Given the description of an element on the screen output the (x, y) to click on. 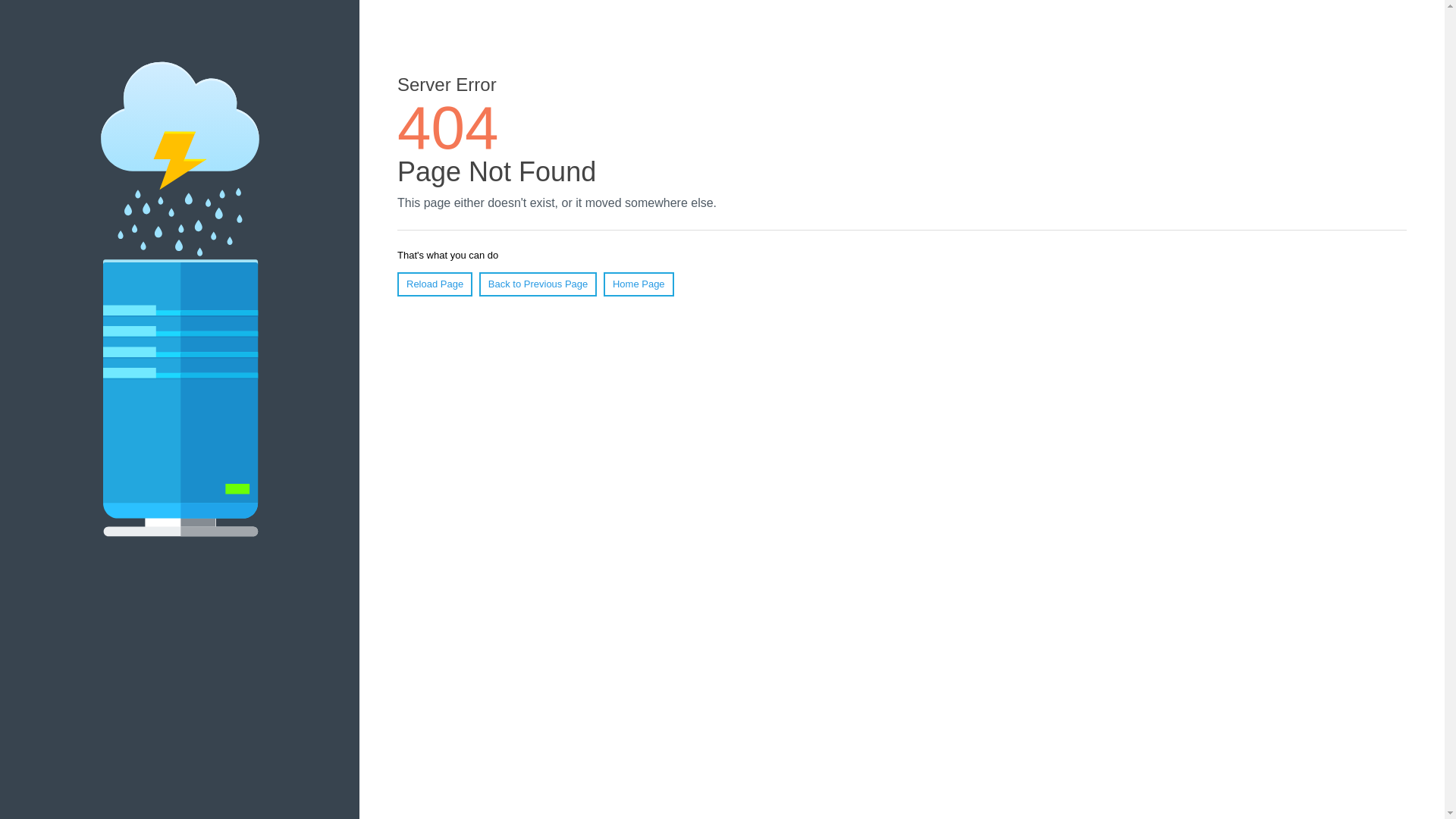
Home Page Element type: text (638, 284)
Back to Previous Page Element type: text (538, 284)
Reload Page Element type: text (434, 284)
